Given the description of an element on the screen output the (x, y) to click on. 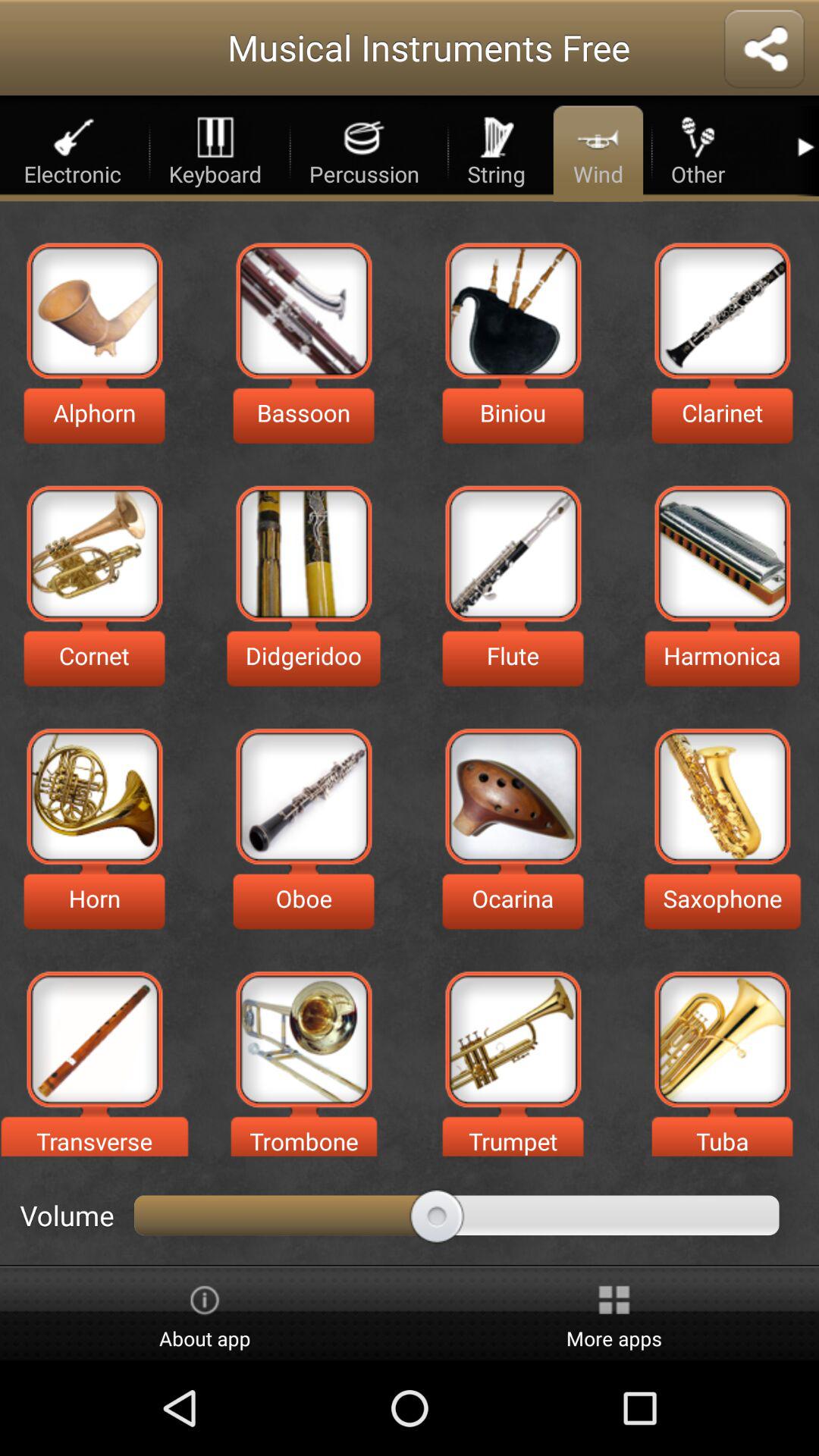
hear the sounds of a clarinet (722, 310)
